Given the description of an element on the screen output the (x, y) to click on. 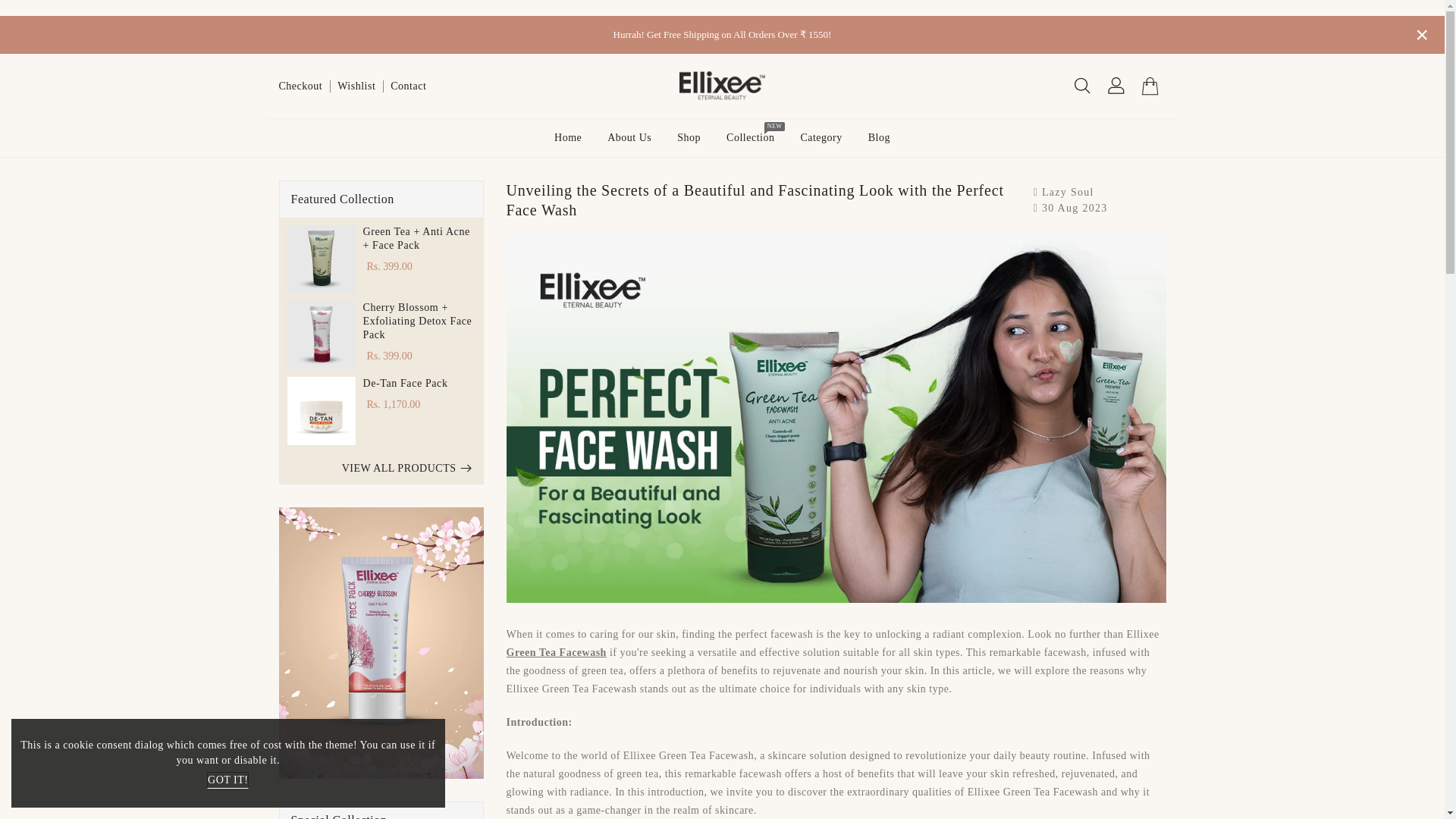
Home (567, 137)
About Us (628, 137)
Shop (688, 137)
Wishlist (356, 85)
Contact (408, 85)
Checkout (301, 85)
SKIP TO CONTENT (19, 7)
